Given the description of an element on the screen output the (x, y) to click on. 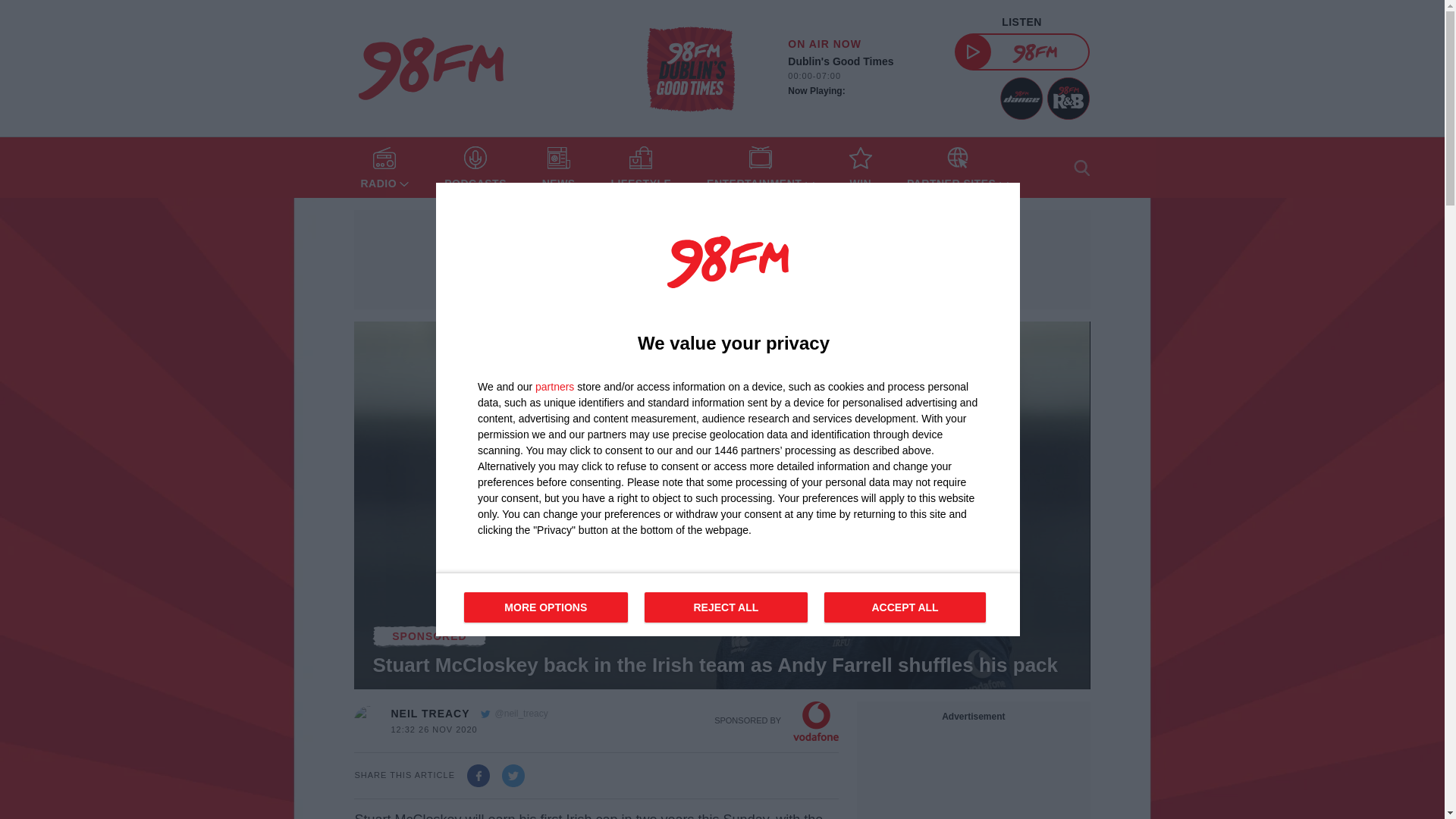
PODCASTS (475, 167)
partners (554, 386)
PARTNER SITES (957, 167)
LIFESTYLE (727, 604)
Dublin's Good Times (640, 167)
NEIL TREACY (690, 68)
Podcasts (429, 713)
ACCEPT ALL (475, 167)
MORE OPTIONS (904, 607)
Lifestyle (545, 607)
RADIO (640, 167)
REJECT ALL (383, 167)
ENTERTAINMENT (726, 607)
